Given the description of an element on the screen output the (x, y) to click on. 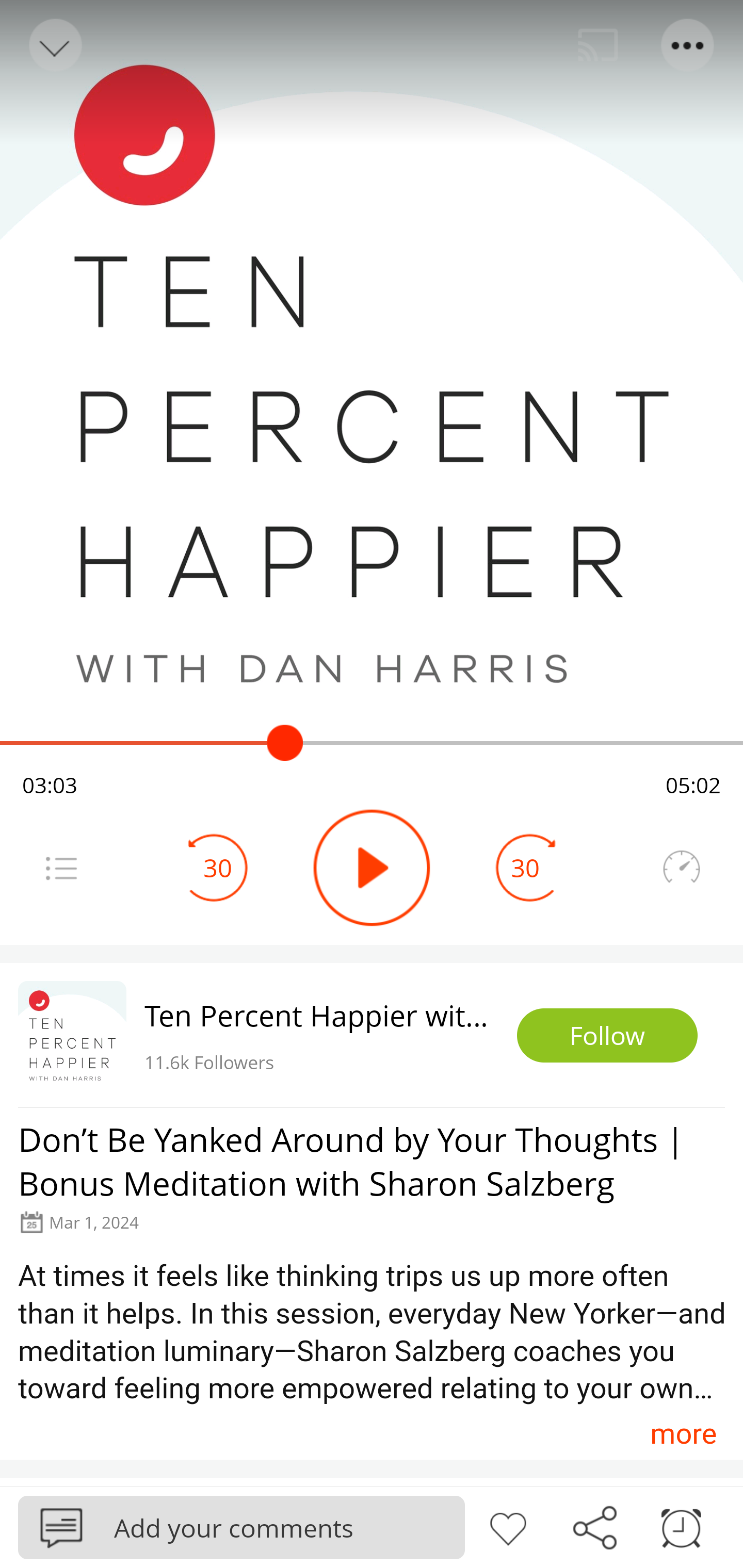
Back (53, 45)
Cast. Disconnected (597, 45)
Menu (688, 45)
Play (371, 867)
30 Seek Backward (217, 867)
30 Seek Forward (525, 867)
Menu (60, 867)
Speedometer (681, 867)
Follow (607, 1035)
more (682, 1432)
Like (508, 1526)
Share (594, 1526)
Sleep timer (681, 1526)
Podbean Add your comments (241, 1526)
